Given the description of an element on the screen output the (x, y) to click on. 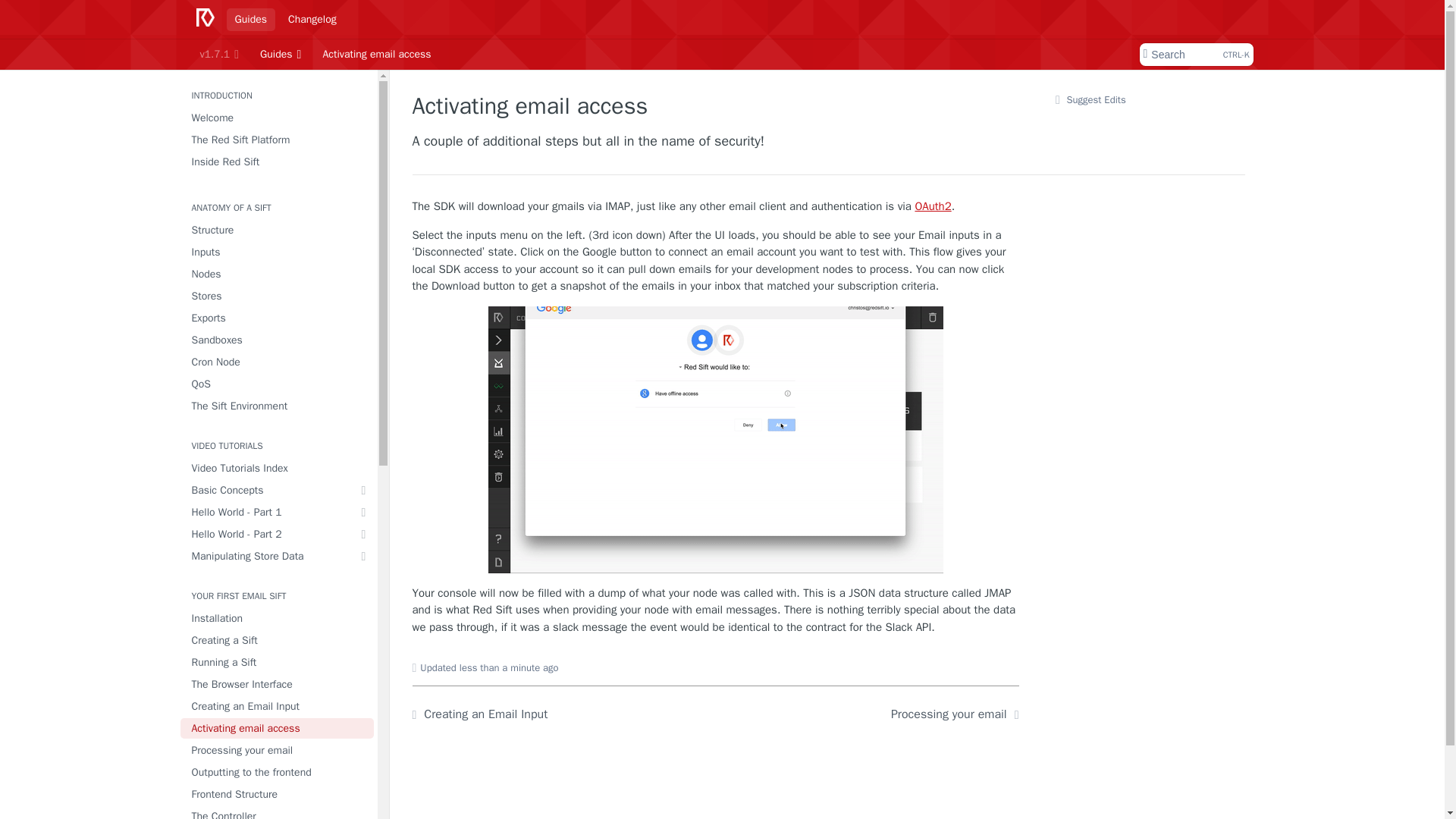
inputs.gif (715, 439)
Inside Red Sift (277, 161)
Video Tutorials Index (277, 467)
Basic Concepts (277, 489)
v1.7.1 (218, 54)
Creating a Sift (277, 639)
Sandboxes (277, 340)
Exports (277, 317)
Stores (277, 295)
Guides (250, 18)
